Given the description of an element on the screen output the (x, y) to click on. 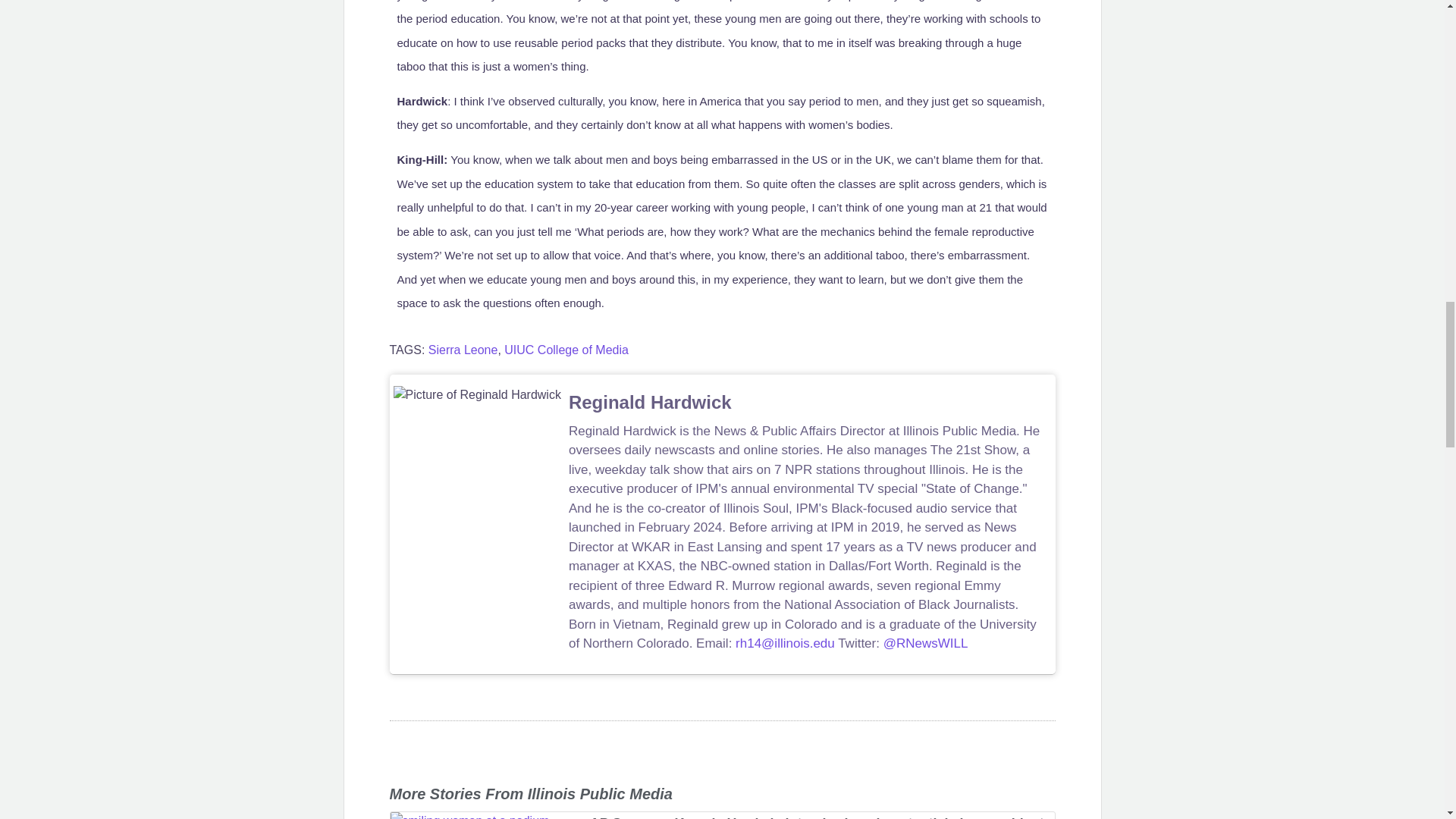
UIUC College of Media (565, 349)
Sierra Leone (462, 349)
